Given the description of an element on the screen output the (x, y) to click on. 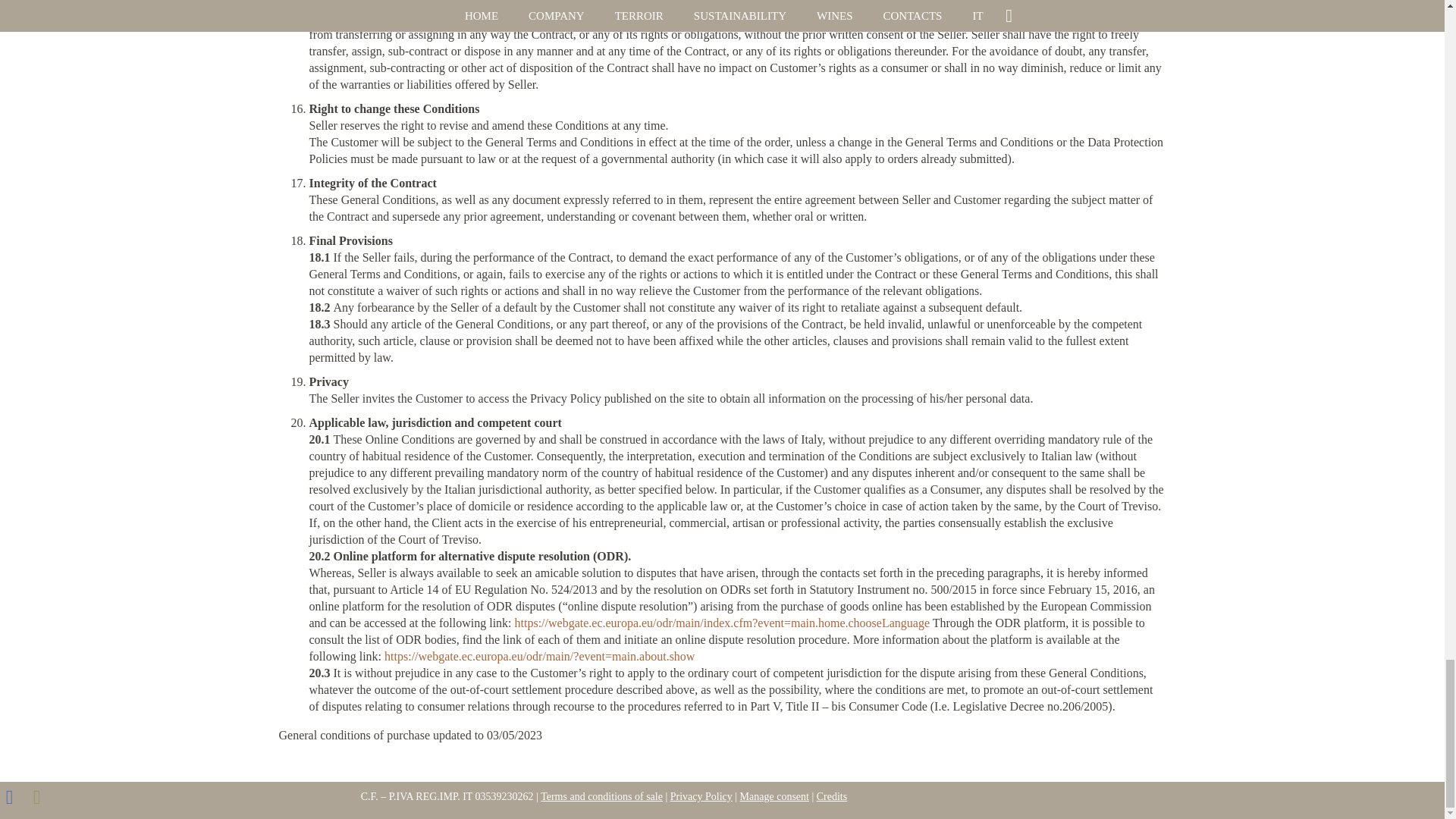
Credits (831, 796)
Manage consent (774, 796)
Privacy Policy (700, 796)
Terms and conditions of sale (601, 796)
Credits (831, 796)
